Given the description of an element on the screen output the (x, y) to click on. 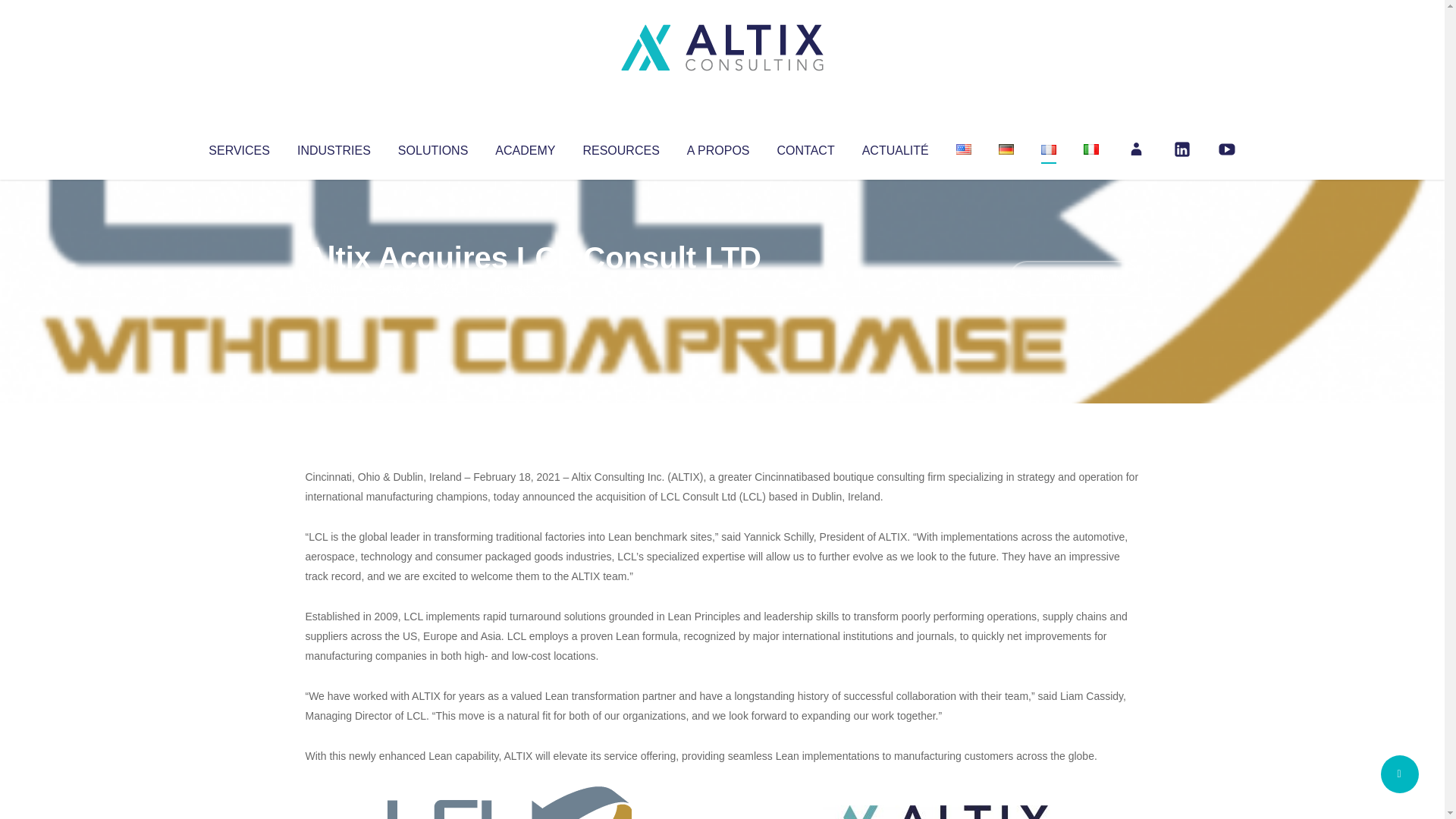
No Comments (1073, 278)
RESOURCES (620, 146)
Uncategorized (530, 287)
SERVICES (238, 146)
Altix (333, 287)
INDUSTRIES (334, 146)
ACADEMY (524, 146)
Articles par Altix (333, 287)
SOLUTIONS (432, 146)
A PROPOS (718, 146)
